Given the description of an element on the screen output the (x, y) to click on. 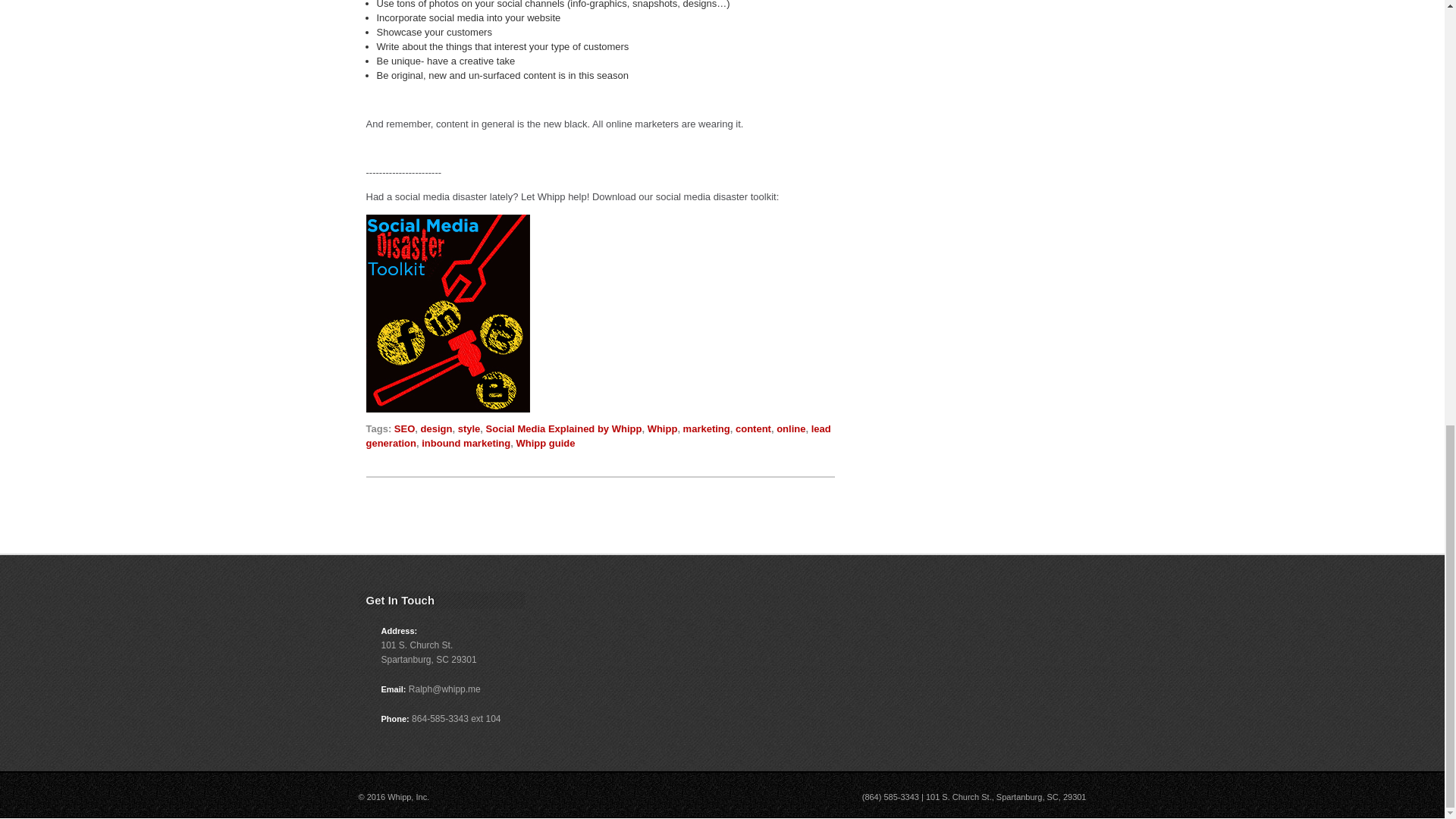
SEO (404, 428)
marketing (706, 428)
design (436, 428)
online (790, 428)
lead generation (597, 435)
Whipp guide (545, 442)
Whipp (662, 428)
inbound marketing (466, 442)
content (753, 428)
style (469, 428)
Social Media Explained by Whipp (564, 428)
